Given the description of an element on the screen output the (x, y) to click on. 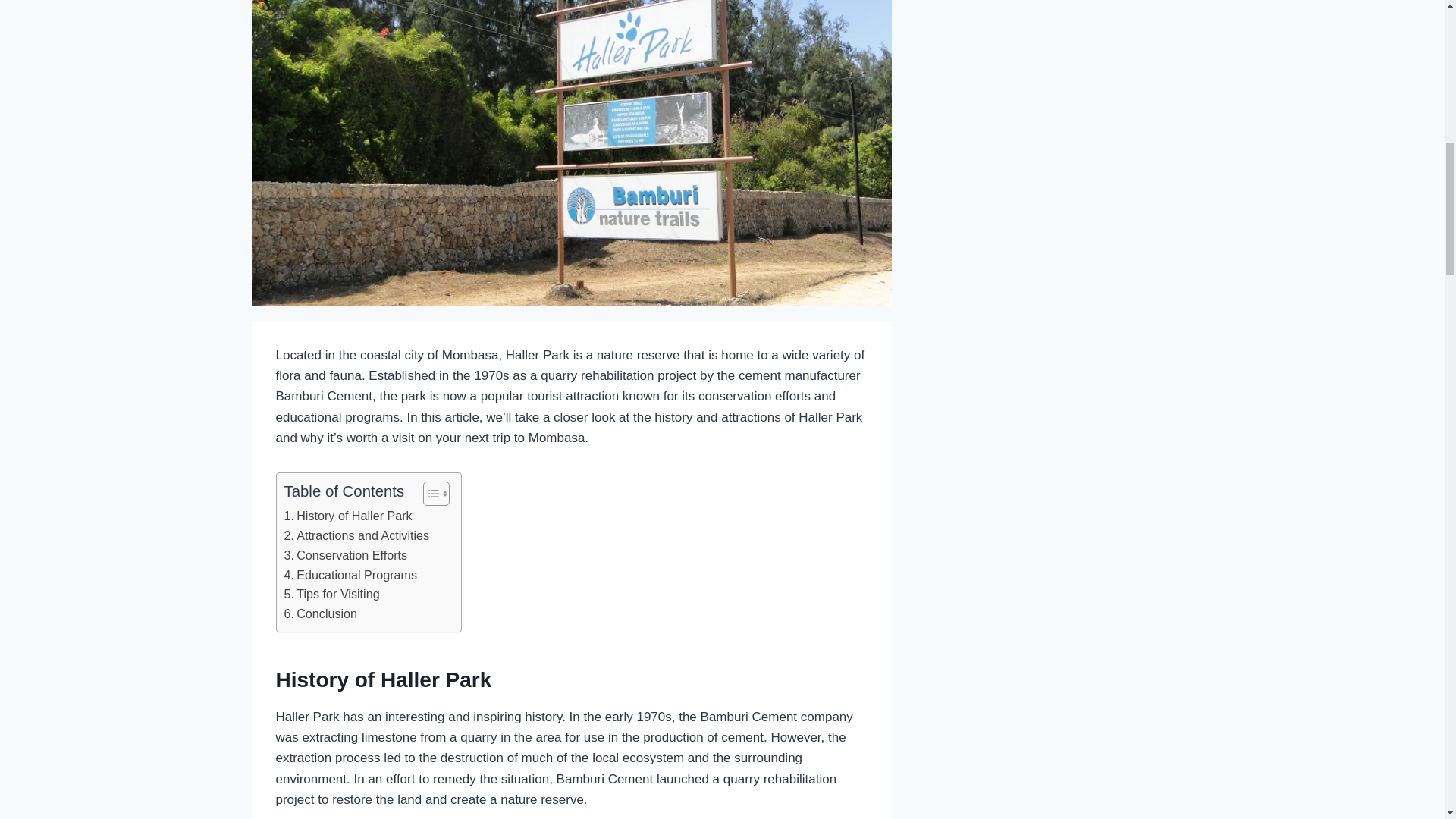
Educational Programs (349, 575)
Tips for Visiting (330, 594)
Educational Programs (349, 575)
Conservation Efforts (345, 555)
Attractions and Activities (356, 536)
Tips for Visiting (330, 594)
Conclusion (319, 614)
Conclusion (319, 614)
Attractions and Activities (356, 536)
History of Haller Park (347, 516)
History of Haller Park (347, 516)
Conservation Efforts (345, 555)
